Given the description of an element on the screen output the (x, y) to click on. 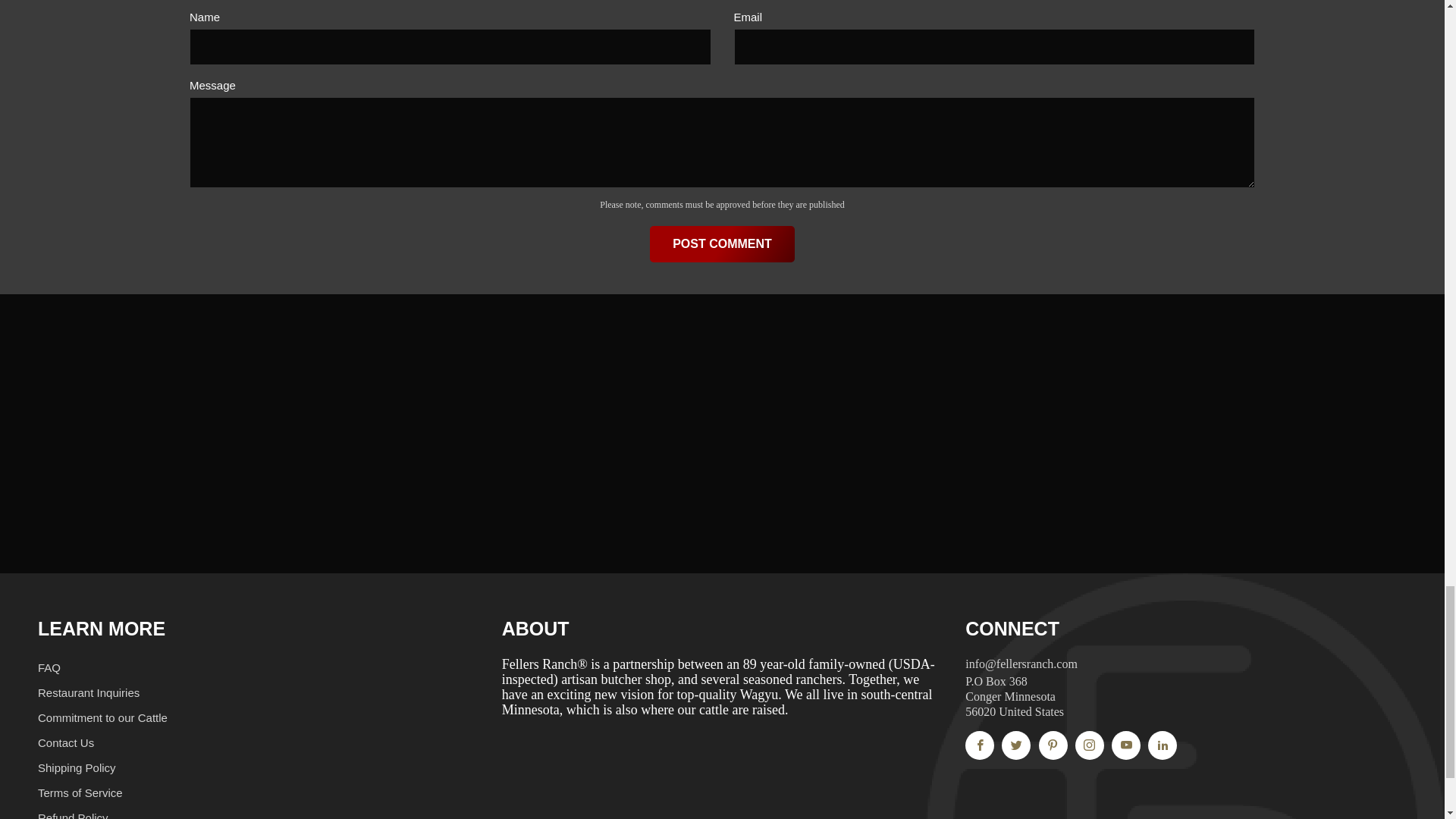
Post comment (721, 244)
